Given the description of an element on the screen output the (x, y) to click on. 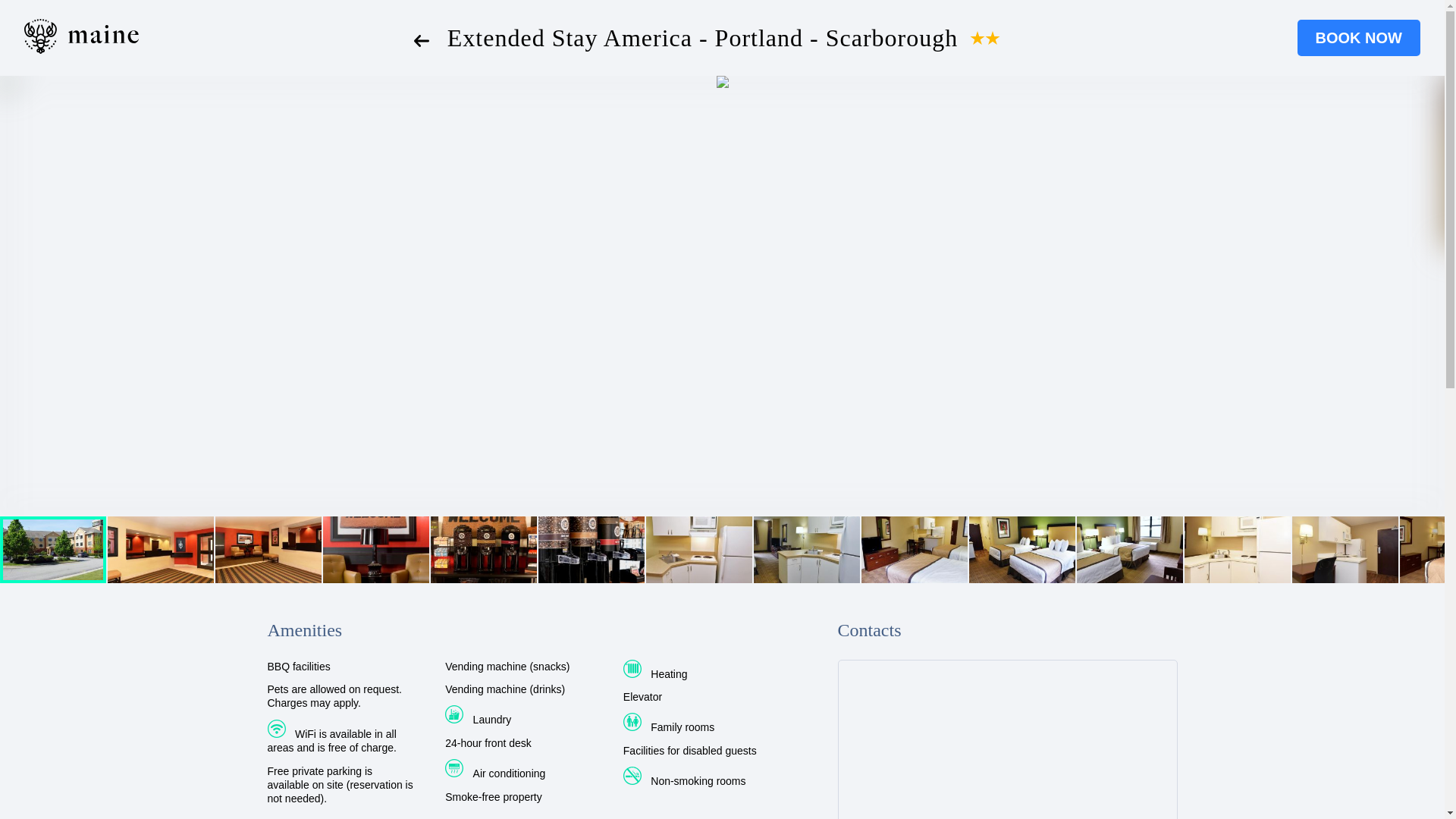
BOOK NOW (1359, 37)
